Given the description of an element on the screen output the (x, y) to click on. 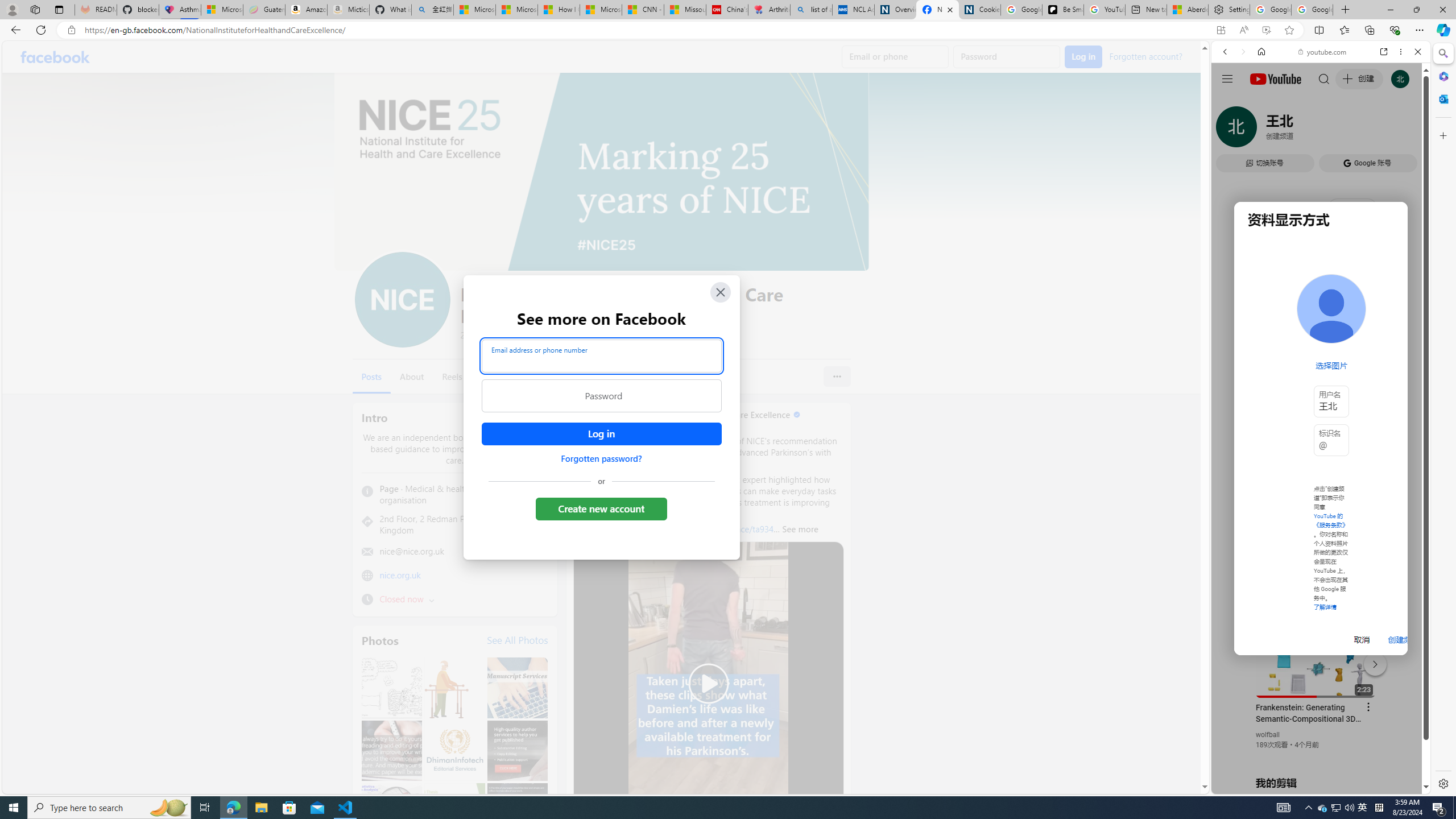
Click to scroll right (1407, 456)
Password (600, 395)
Music (1320, 309)
Class: b_serphb (1404, 130)
Class: dict_pnIcon rms_img (1312, 784)
you (1315, 755)
